Given the description of an element on the screen output the (x, y) to click on. 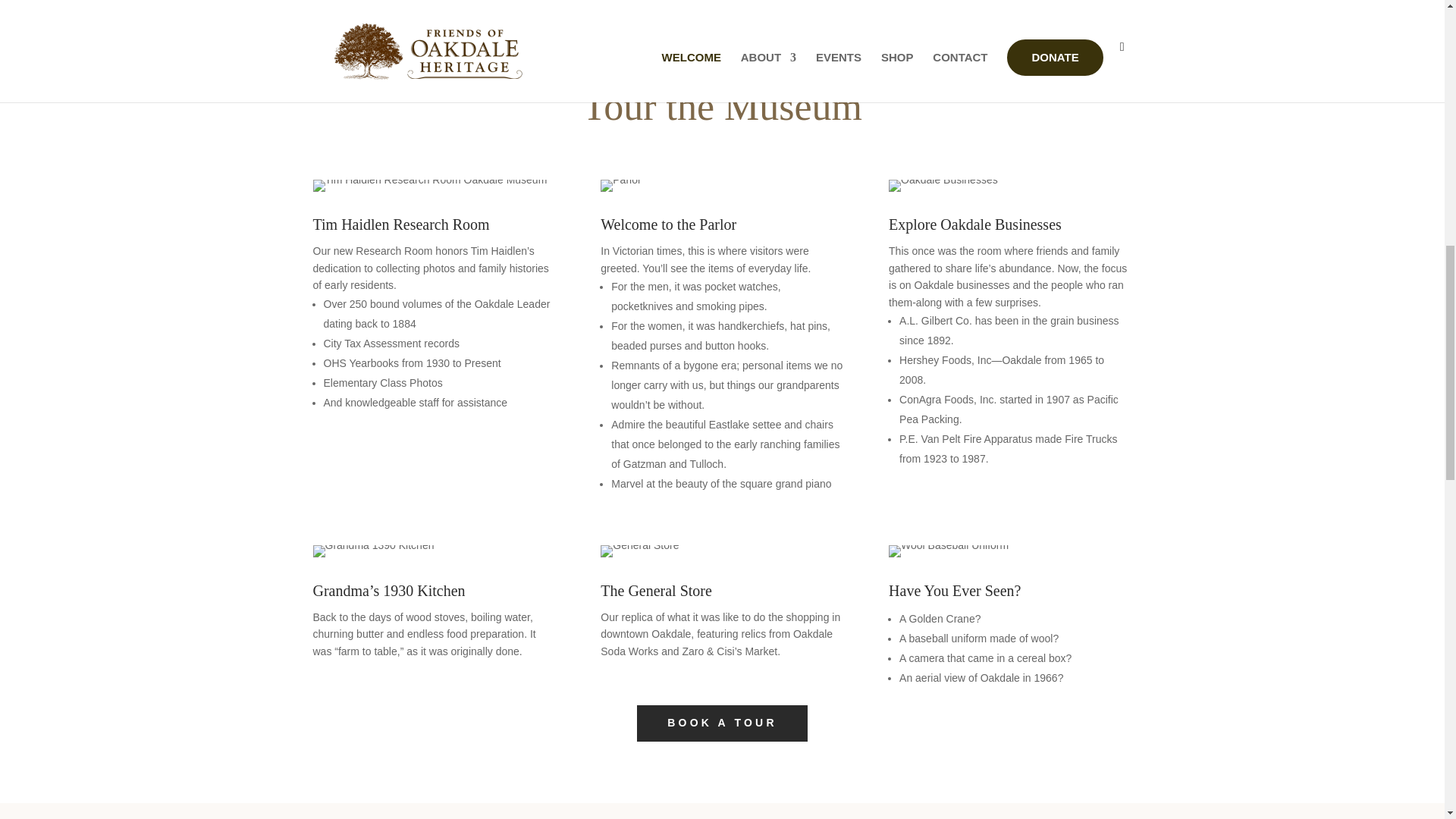
watercolor-divider-01 (183, 11)
BOOK A TOUR (721, 723)
Tim Haidlen Research Room Oakdale Museum (430, 185)
General Store (638, 551)
Oakdale Businesses (948, 551)
Grandmas 1930 Kitchen (373, 551)
Oakdale Businesses  (942, 185)
Parlor (619, 185)
